Given the description of an element on the screen output the (x, y) to click on. 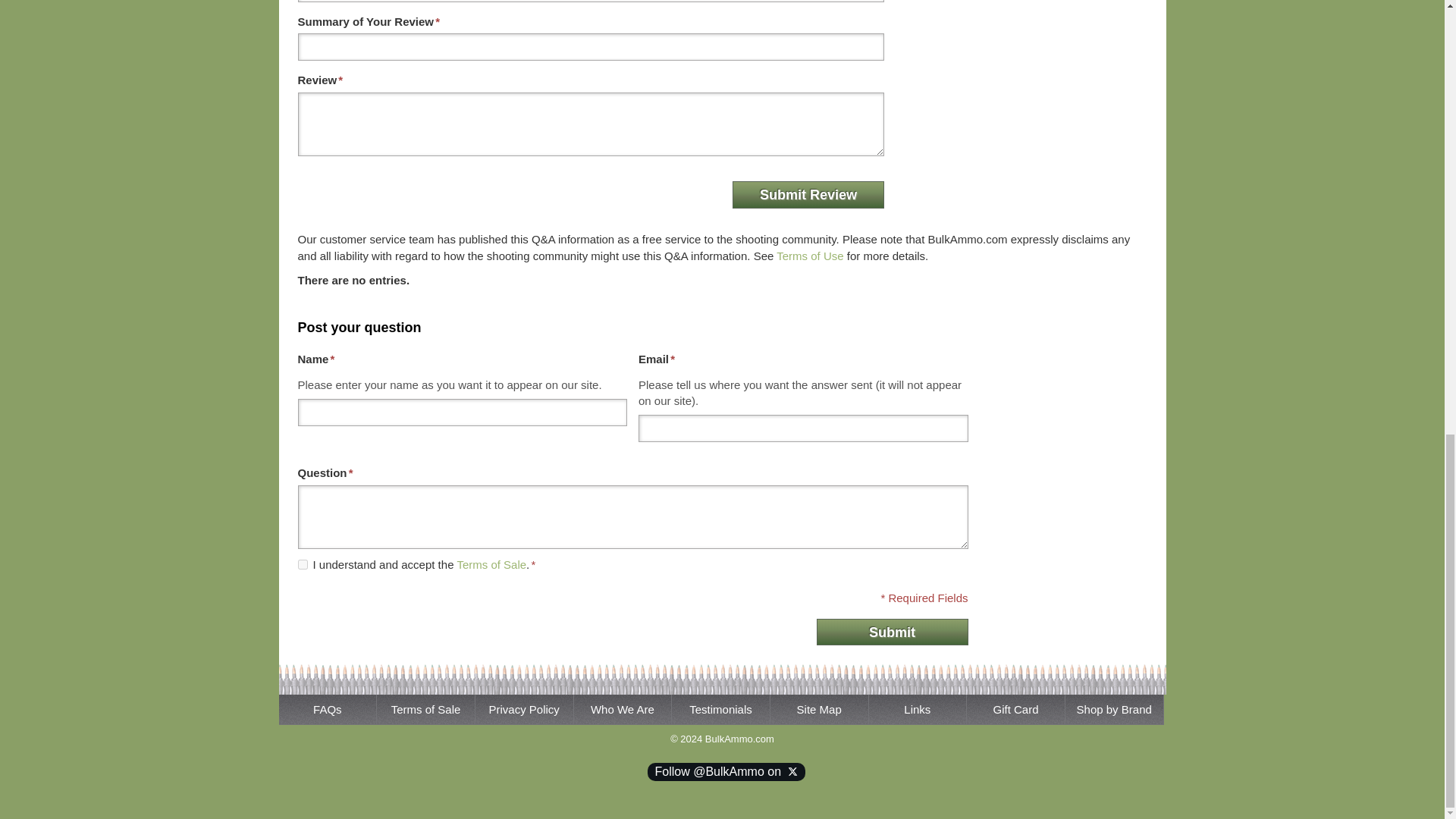
on (302, 564)
